Given the description of an element on the screen output the (x, y) to click on. 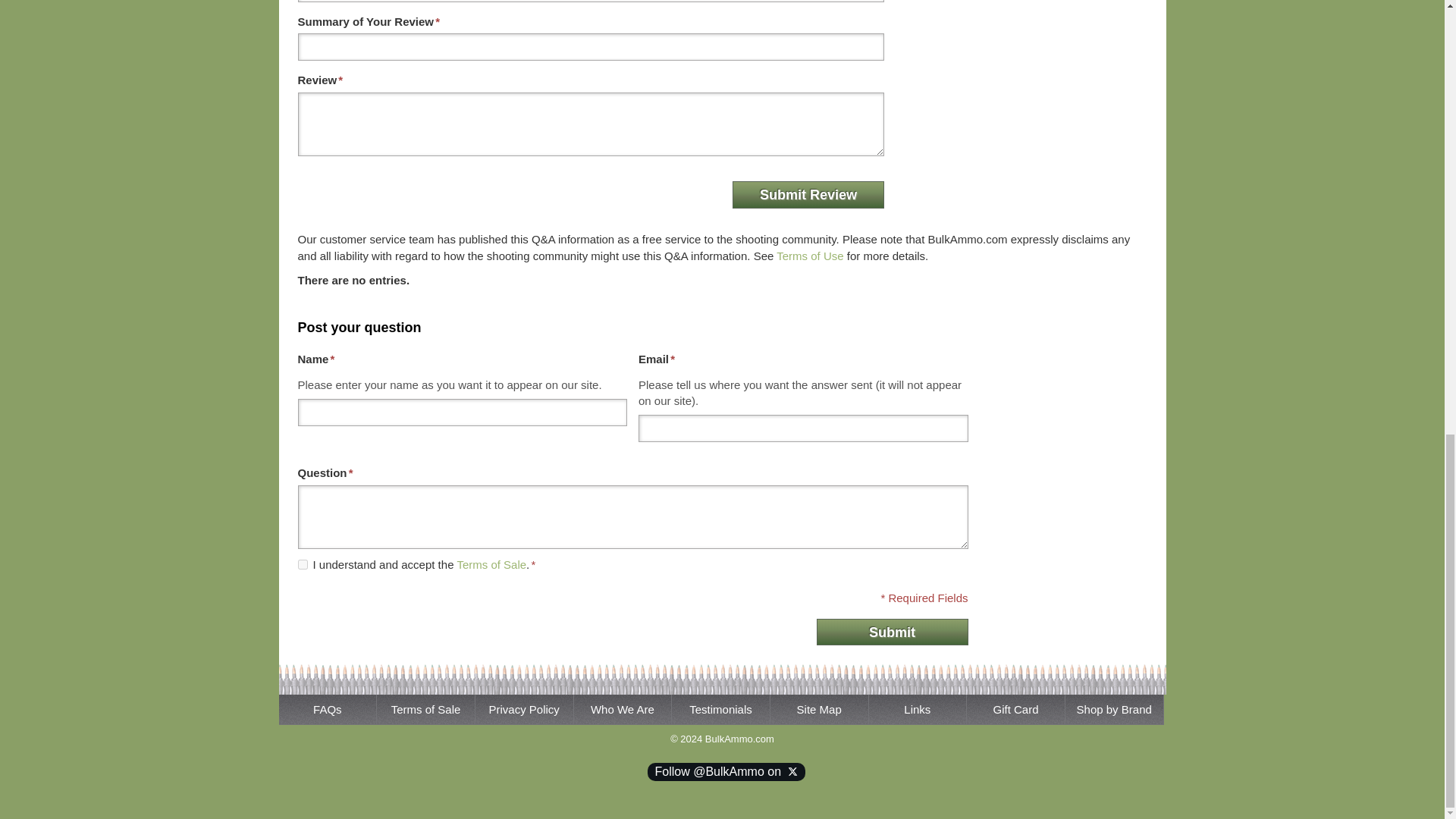
on (302, 564)
